Given the description of an element on the screen output the (x, y) to click on. 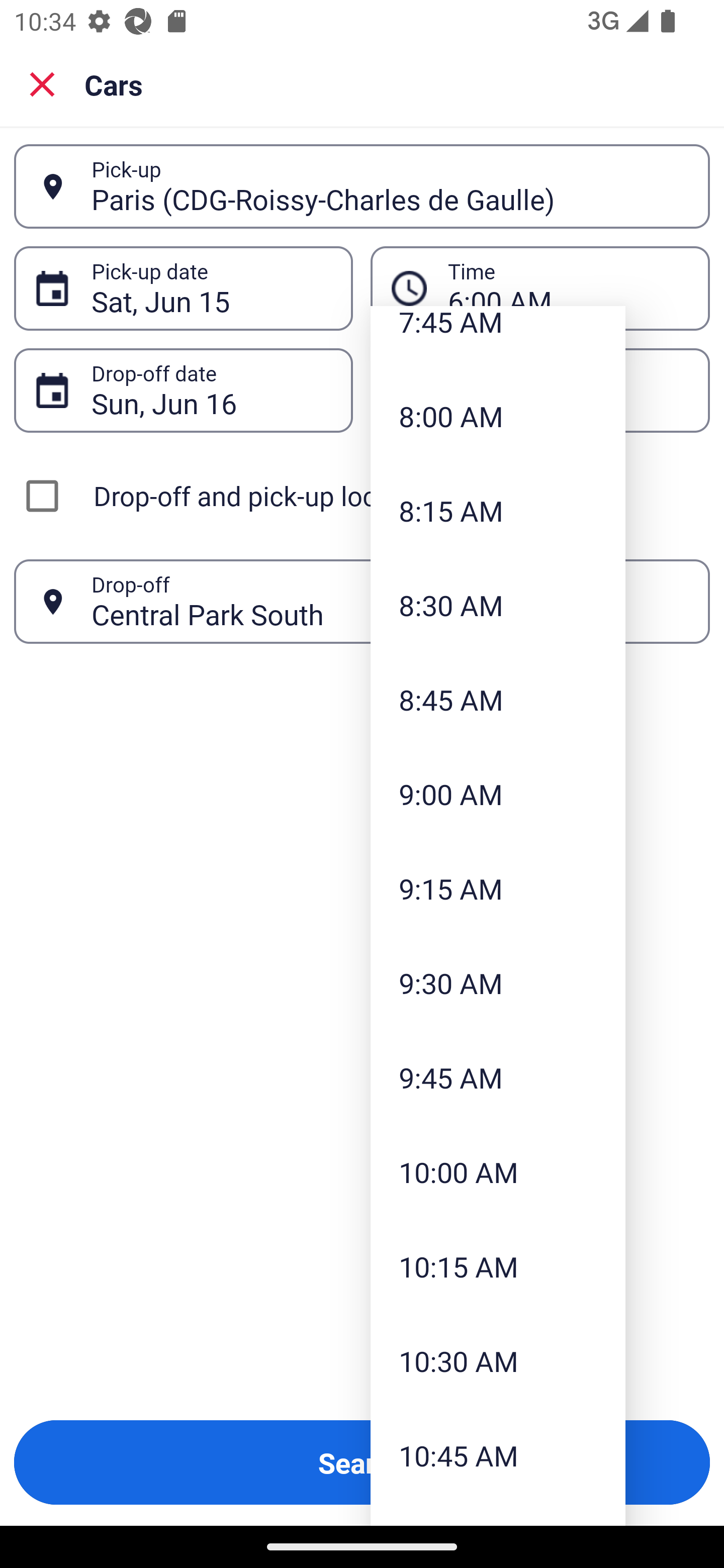
7:45 AM (497, 336)
8:00 AM (497, 416)
8:15 AM (497, 511)
8:30 AM (497, 605)
8:45 AM (497, 699)
9:00 AM (497, 794)
9:15 AM (497, 889)
9:30 AM (497, 983)
9:45 AM (497, 1077)
10:00 AM (497, 1171)
10:15 AM (497, 1266)
10:30 AM (497, 1360)
10:45 AM (497, 1455)
